Given the description of an element on the screen output the (x, y) to click on. 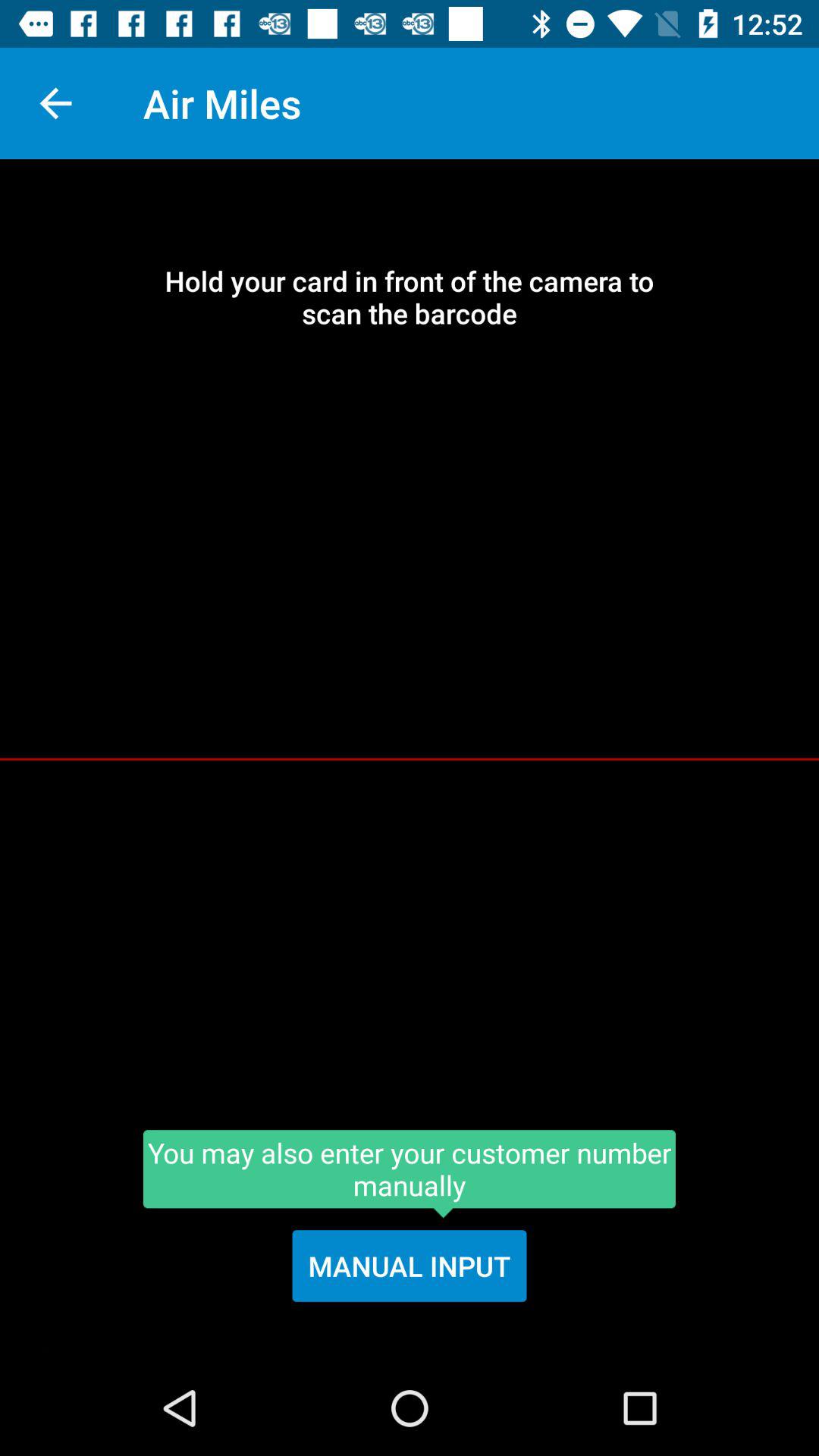
tap icon below the you may also item (409, 1265)
